Given the description of an element on the screen output the (x, y) to click on. 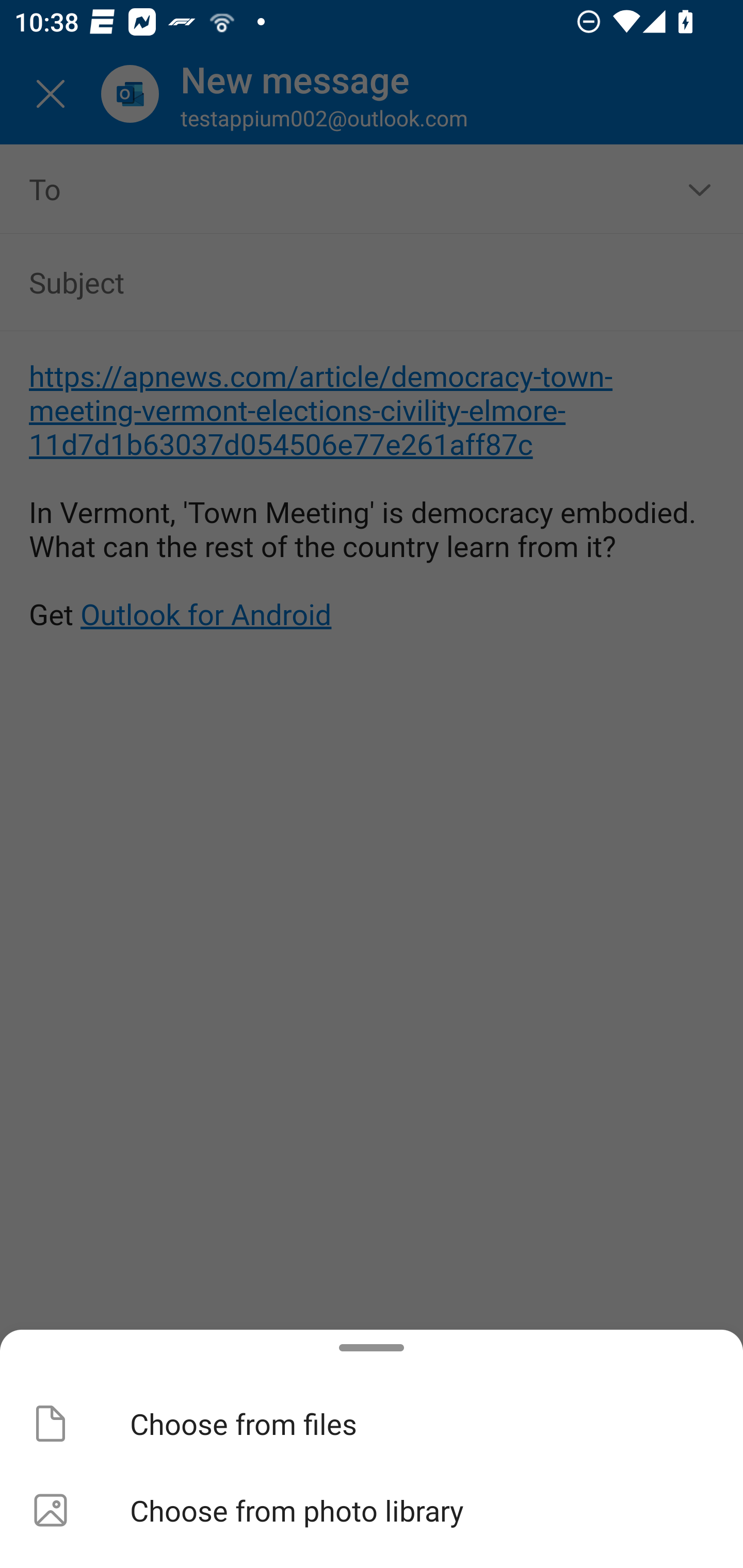
Choose from files (371, 1423)
Choose from photo library (371, 1510)
